Given the description of an element on the screen output the (x, y) to click on. 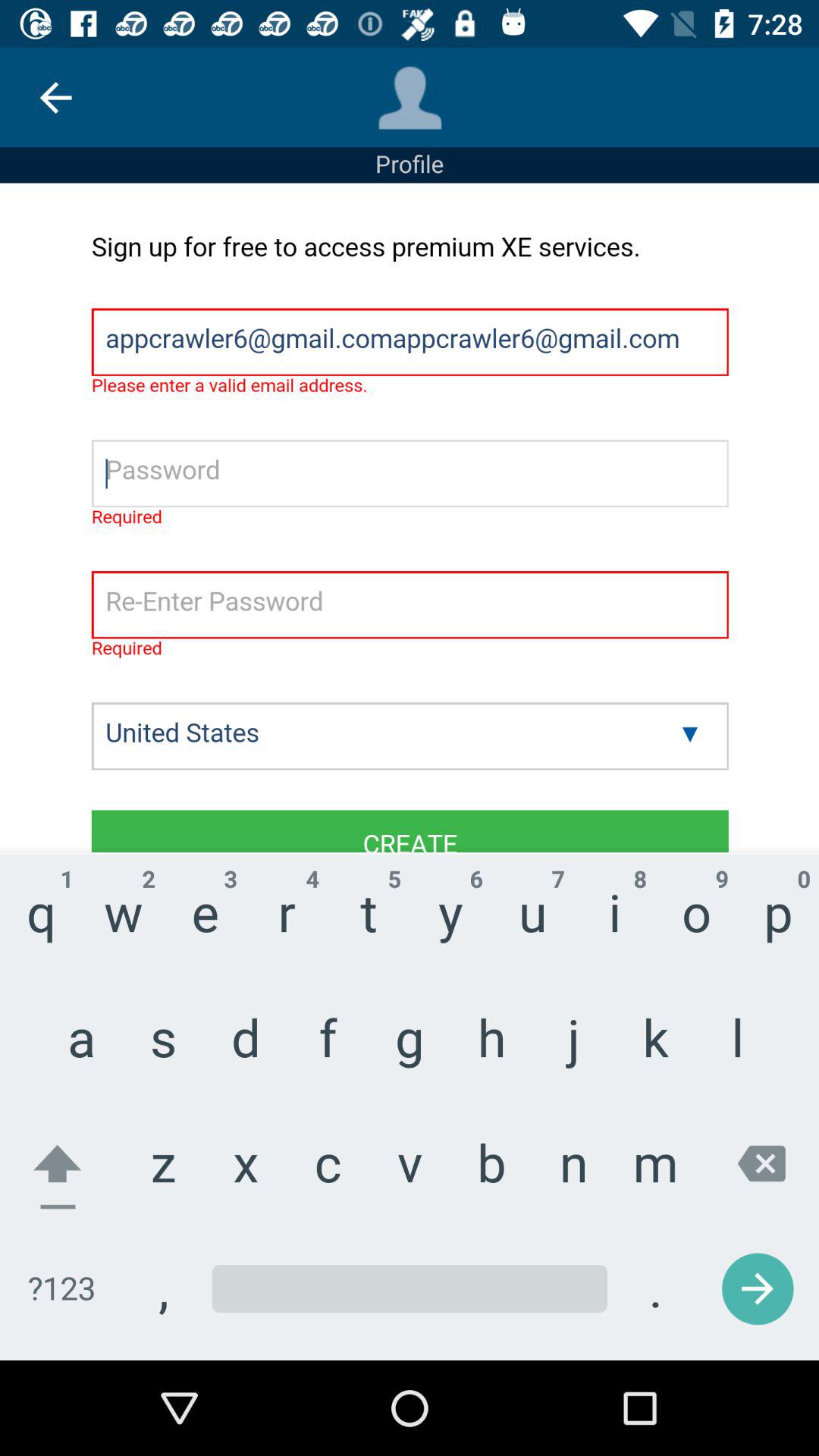
page content (409, 771)
